Given the description of an element on the screen output the (x, y) to click on. 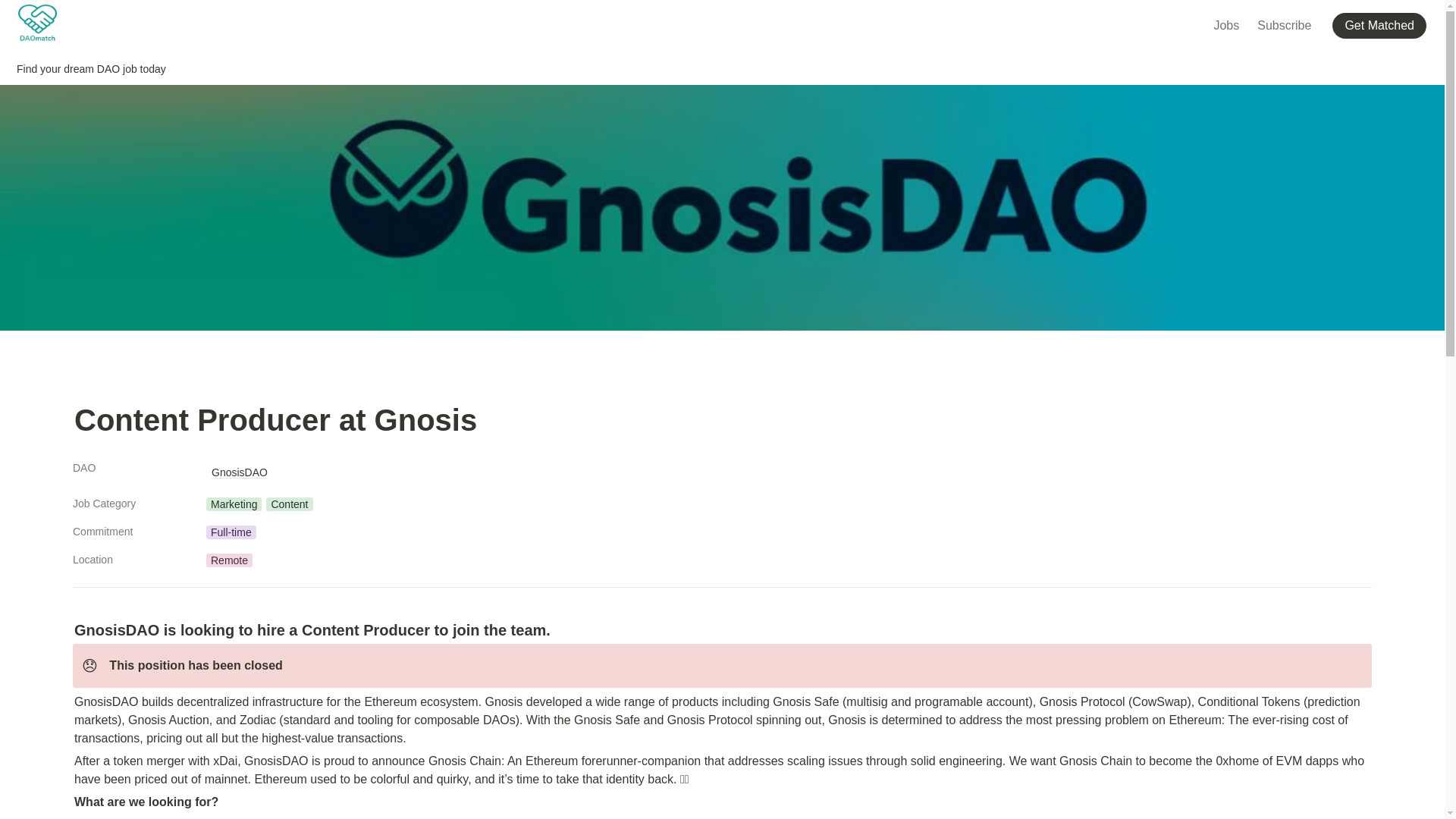
Get Matched (1382, 24)
Jobs (1225, 24)
GnosisDAO (239, 472)
Find your dream DAO job today (90, 69)
Subscribe (1283, 24)
